Given the description of an element on the screen output the (x, y) to click on. 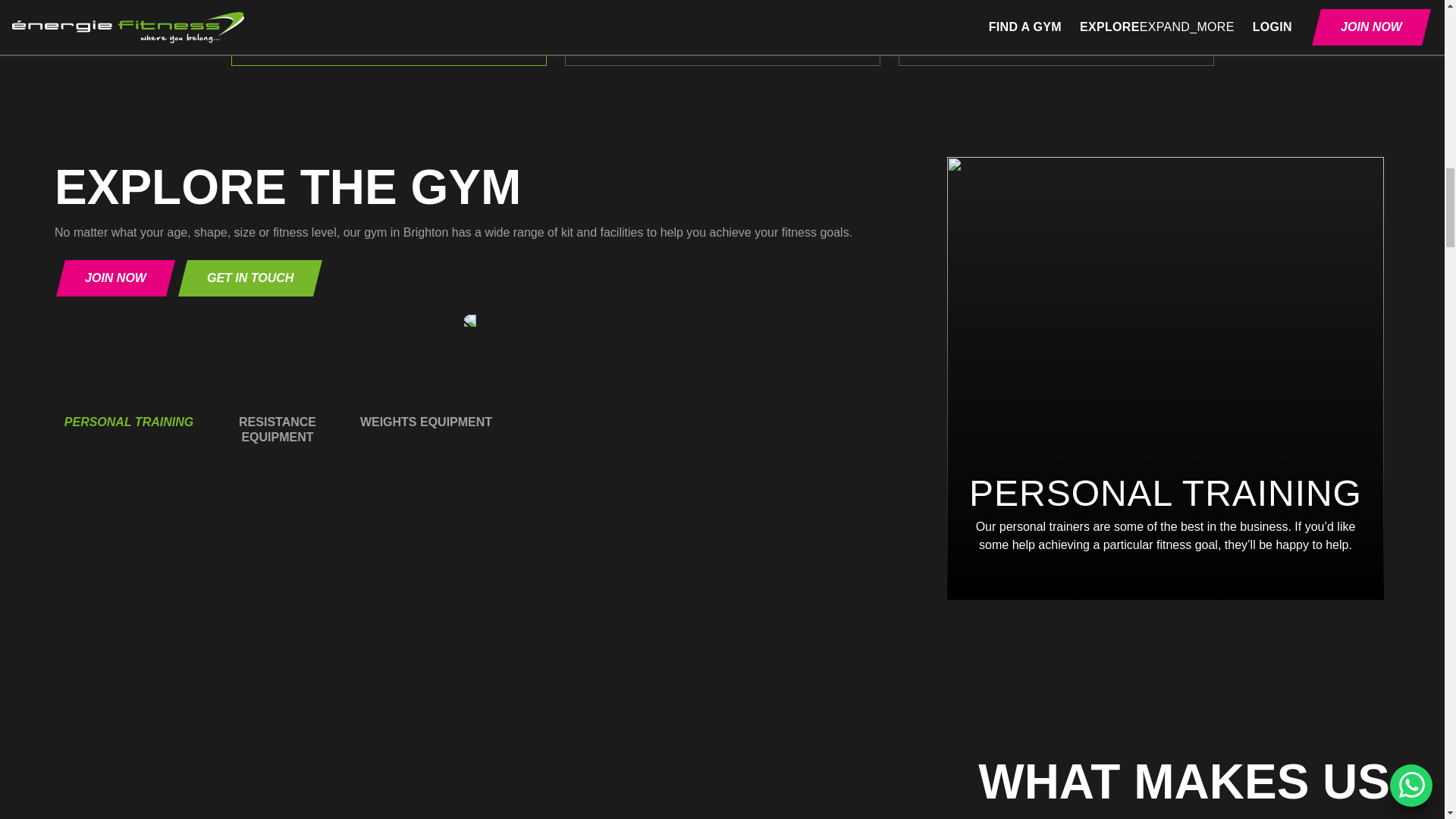
RESISTANCE EQUIPMENT (277, 394)
Close more info (388, 37)
JOIN NOW (1056, 8)
More info (722, 37)
WEIGHTS EQUIPMENT (426, 386)
GET IN TOUCH (250, 278)
JOIN NOW (388, 8)
Close more info (721, 37)
JOIN NOW (115, 278)
PERSONAL TRAINING (129, 386)
